Given the description of an element on the screen output the (x, y) to click on. 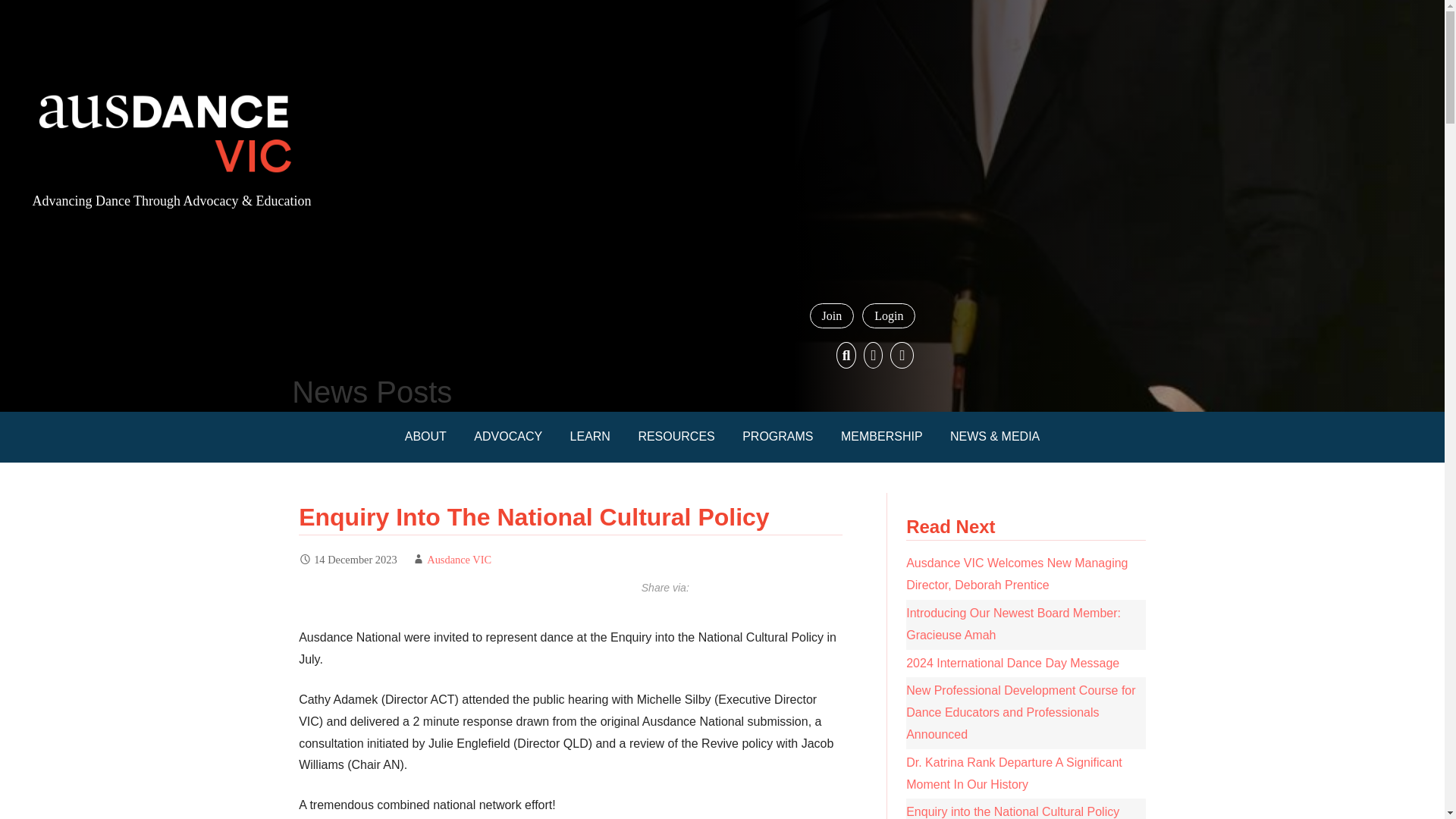
RESOURCES (676, 436)
ADVOCACY (507, 436)
MEMBERSHIP (881, 436)
PROGRAMS (777, 436)
Join (831, 315)
LEARN (590, 436)
Login (888, 315)
Ausdance VIC (459, 559)
ABOUT (425, 436)
Posts by Ausdance VIC (459, 559)
